Given the description of an element on the screen output the (x, y) to click on. 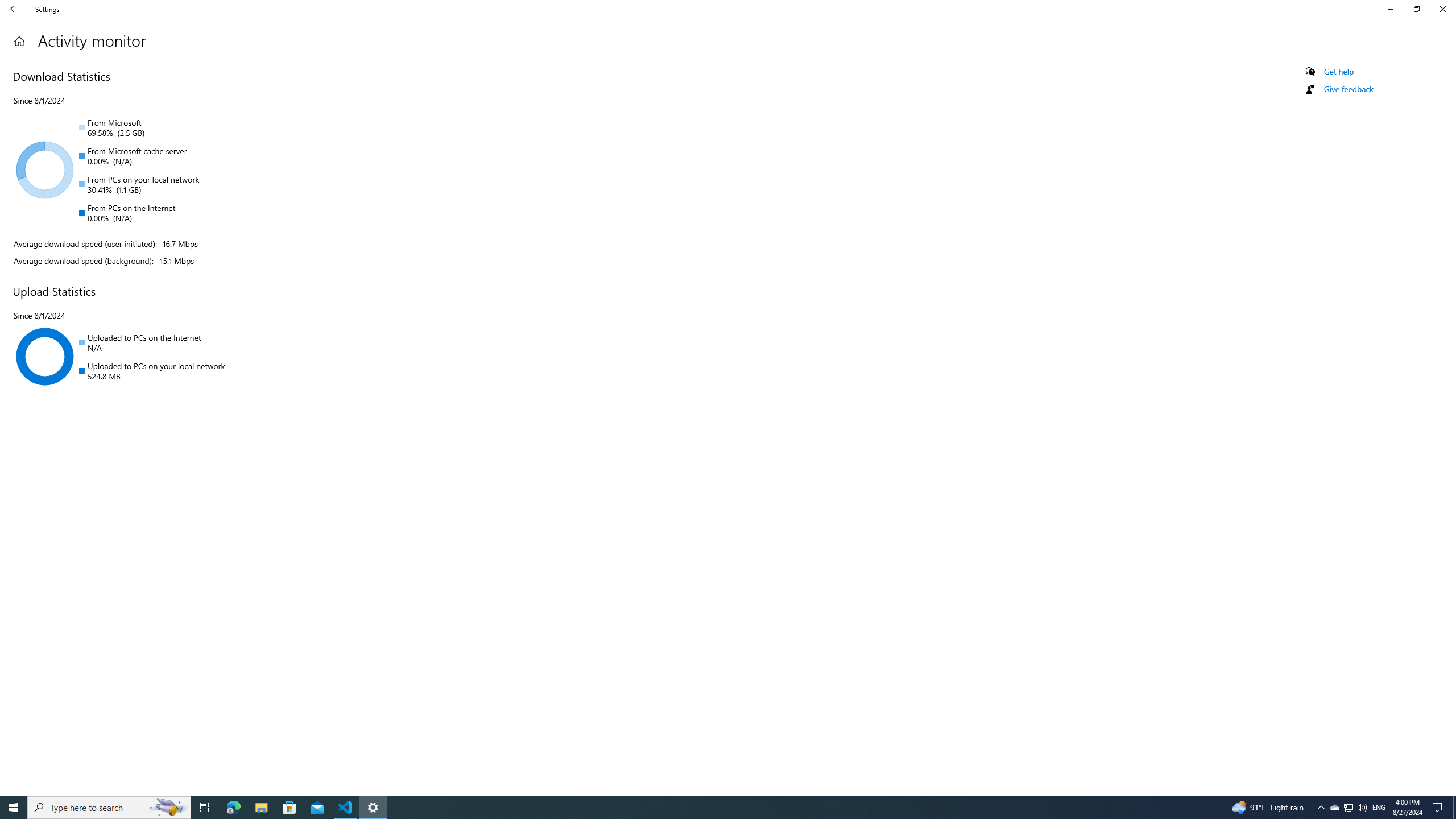
Give feedback (1348, 88)
Settings - 1 running window (373, 807)
Running applications (706, 807)
Close Settings (1442, 9)
Home (19, 40)
Get help (1338, 71)
